Given the description of an element on the screen output the (x, y) to click on. 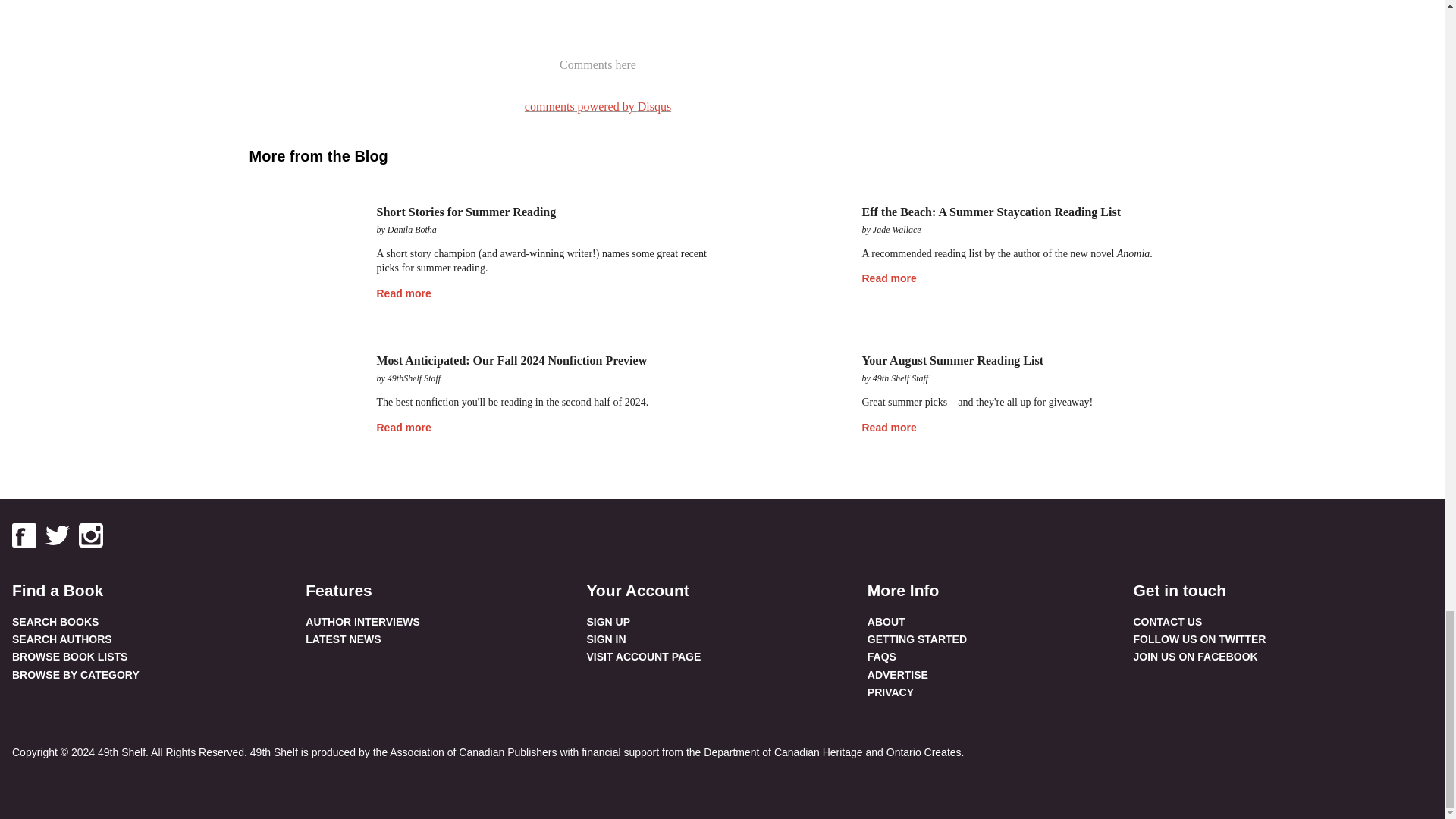
Visit us on Twitter (57, 535)
Visit us on Instagram (90, 535)
Visit us on Facebook (23, 535)
